Given the description of an element on the screen output the (x, y) to click on. 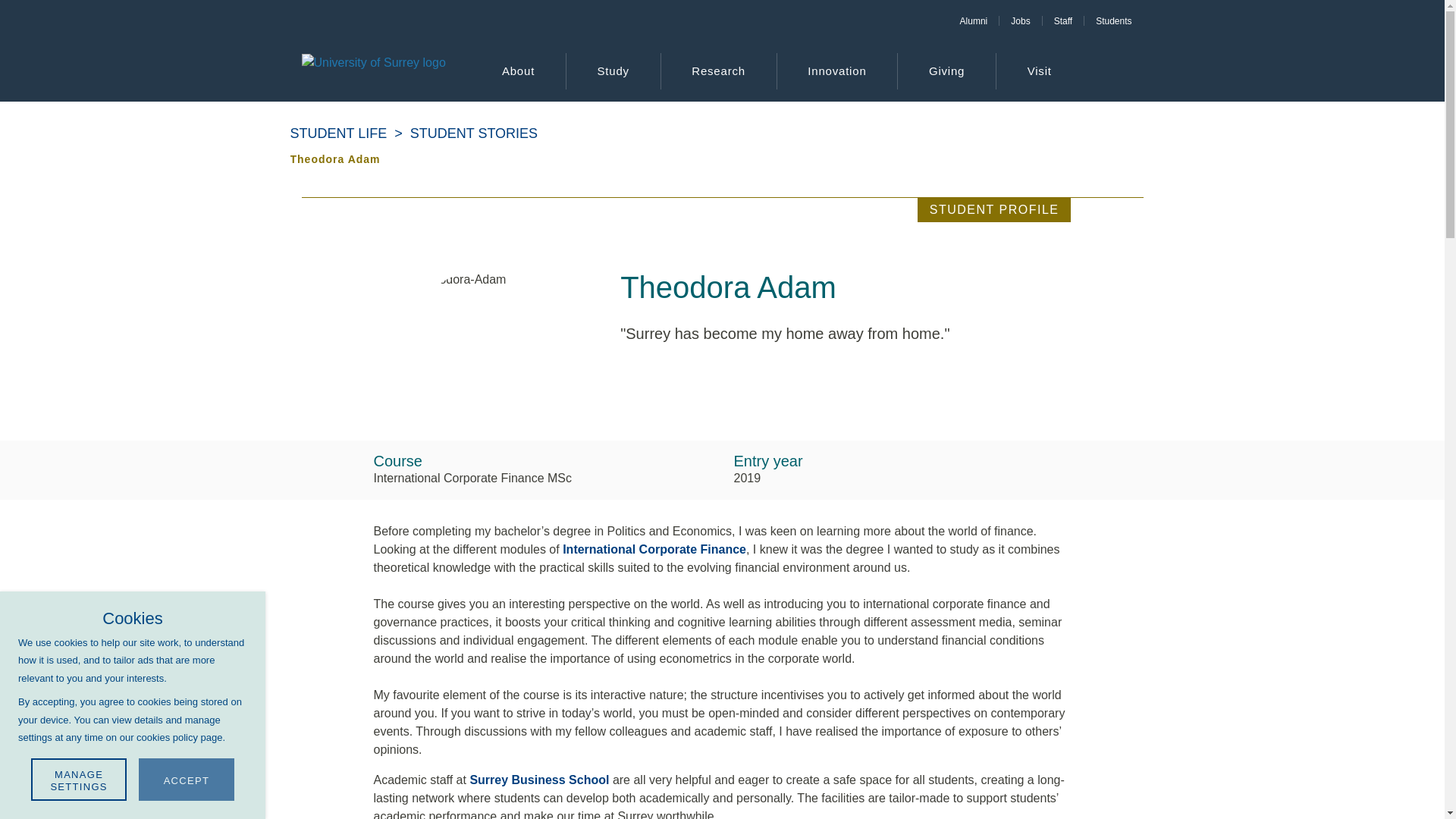
Alumni (973, 20)
Staff (1062, 20)
About (518, 71)
Jobs (1019, 20)
ACCEPT (186, 779)
 Theodora Adam (341, 159)
Surrey Business School (538, 779)
Home (373, 71)
Students (1113, 20)
International Corporate Finance MSc (653, 549)
MANAGE SETTINGS (78, 779)
